Given the description of an element on the screen output the (x, y) to click on. 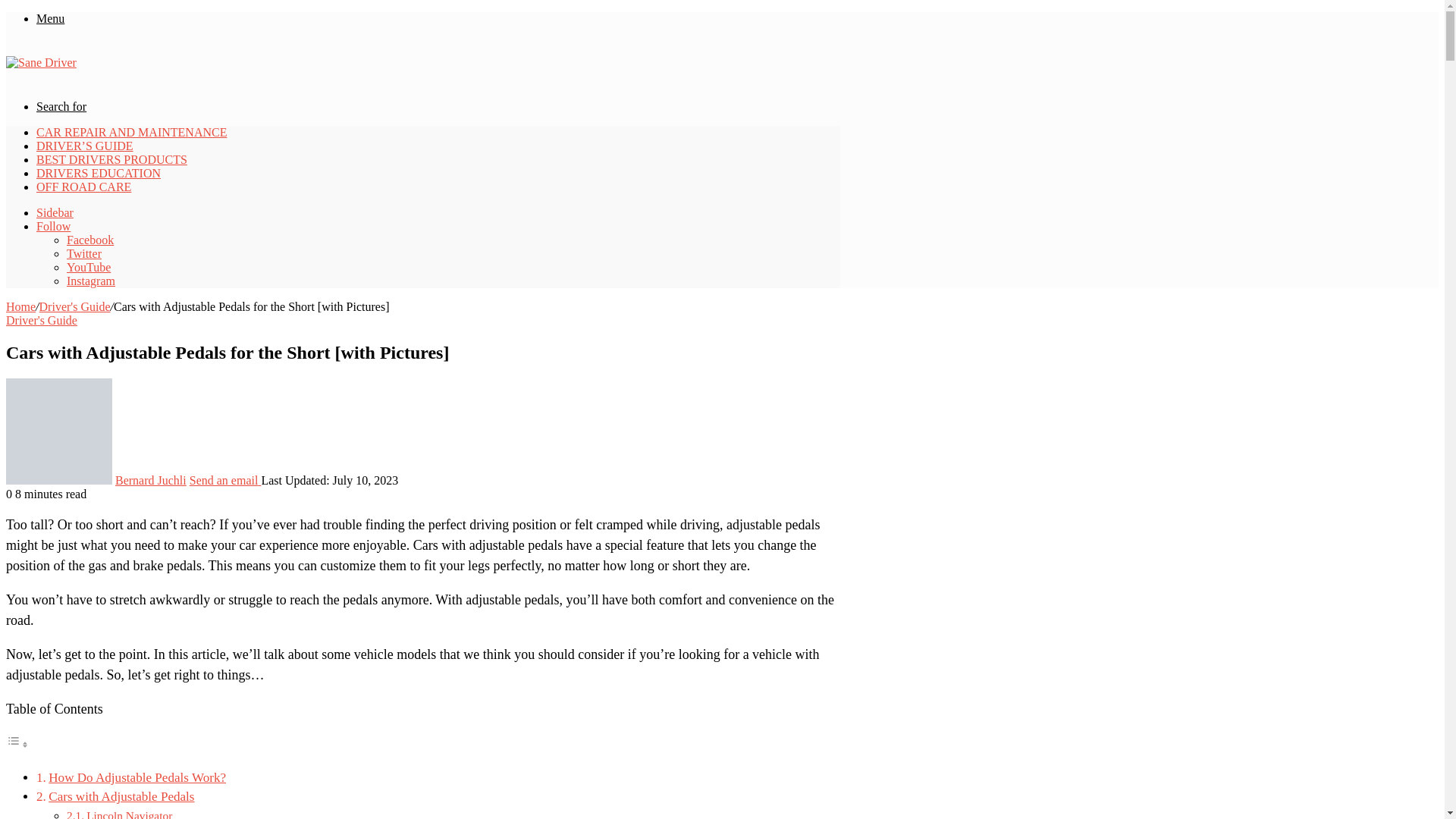
DRIVERS EDUCATION (98, 173)
Lincoln Navigator (128, 814)
Driver's Guide (74, 306)
Cars with Adjustable Pedals (120, 796)
Follow (52, 226)
CAR REPAIR AND MAINTENANCE (131, 132)
Driver's Guide (41, 319)
OFF ROAD CARE (83, 186)
Instagram (90, 280)
Twitter (83, 253)
